Given the description of an element on the screen output the (x, y) to click on. 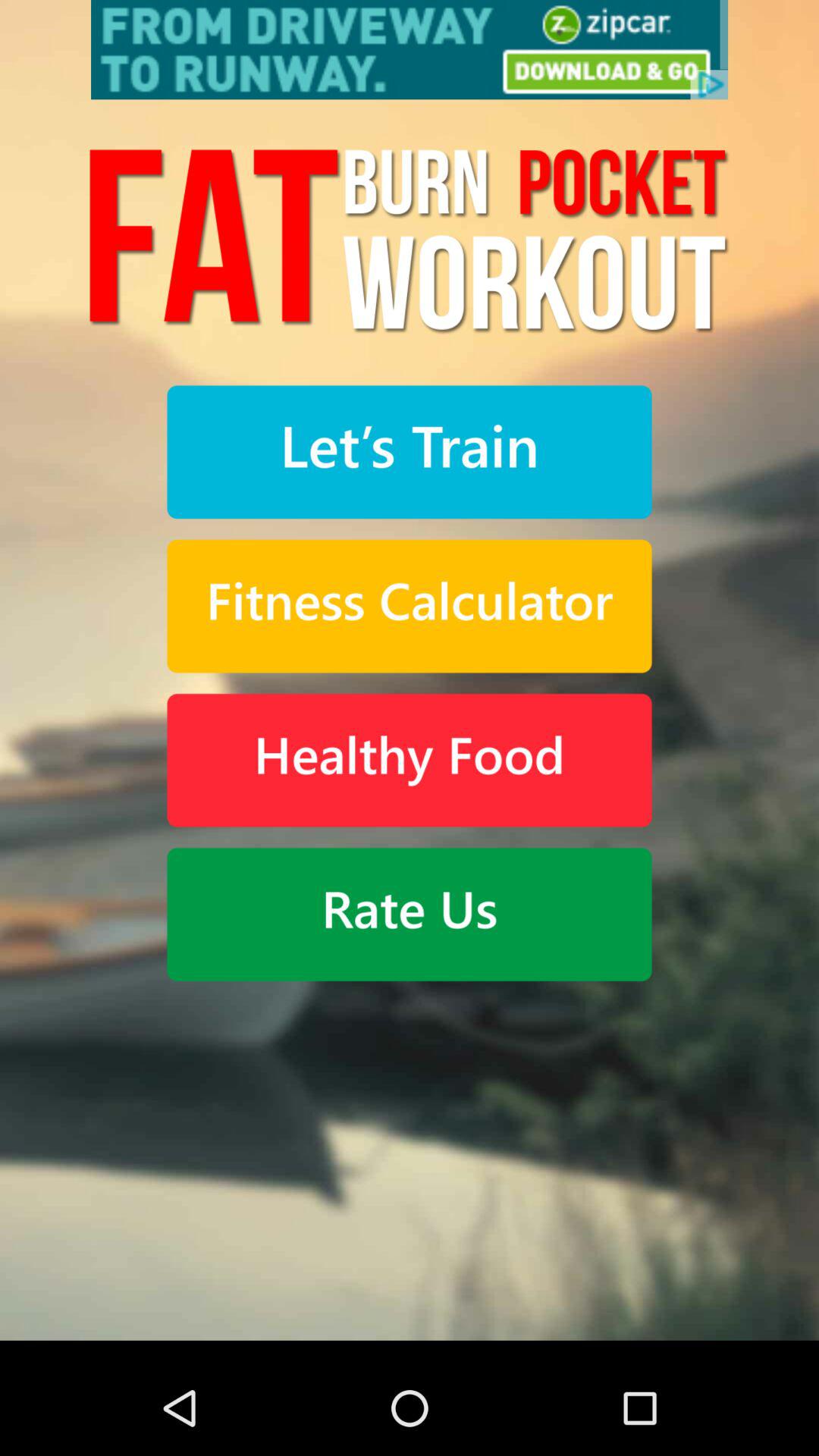
select this button (409, 606)
